Given the description of an element on the screen output the (x, y) to click on. 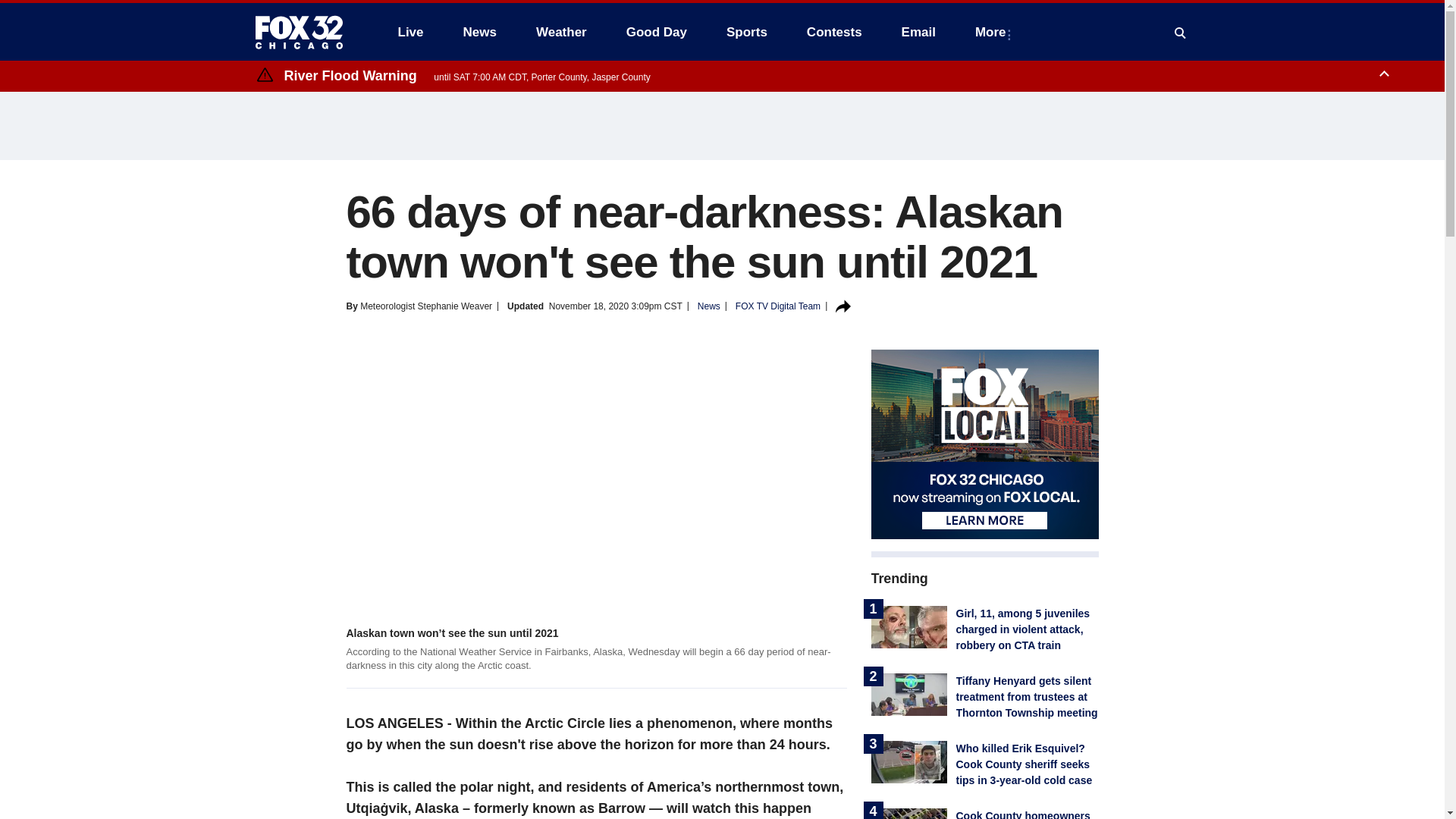
Live (410, 32)
More (993, 32)
Weather (561, 32)
Contests (834, 32)
Email (918, 32)
Sports (746, 32)
News (479, 32)
Good Day (656, 32)
